Given the description of an element on the screen output the (x, y) to click on. 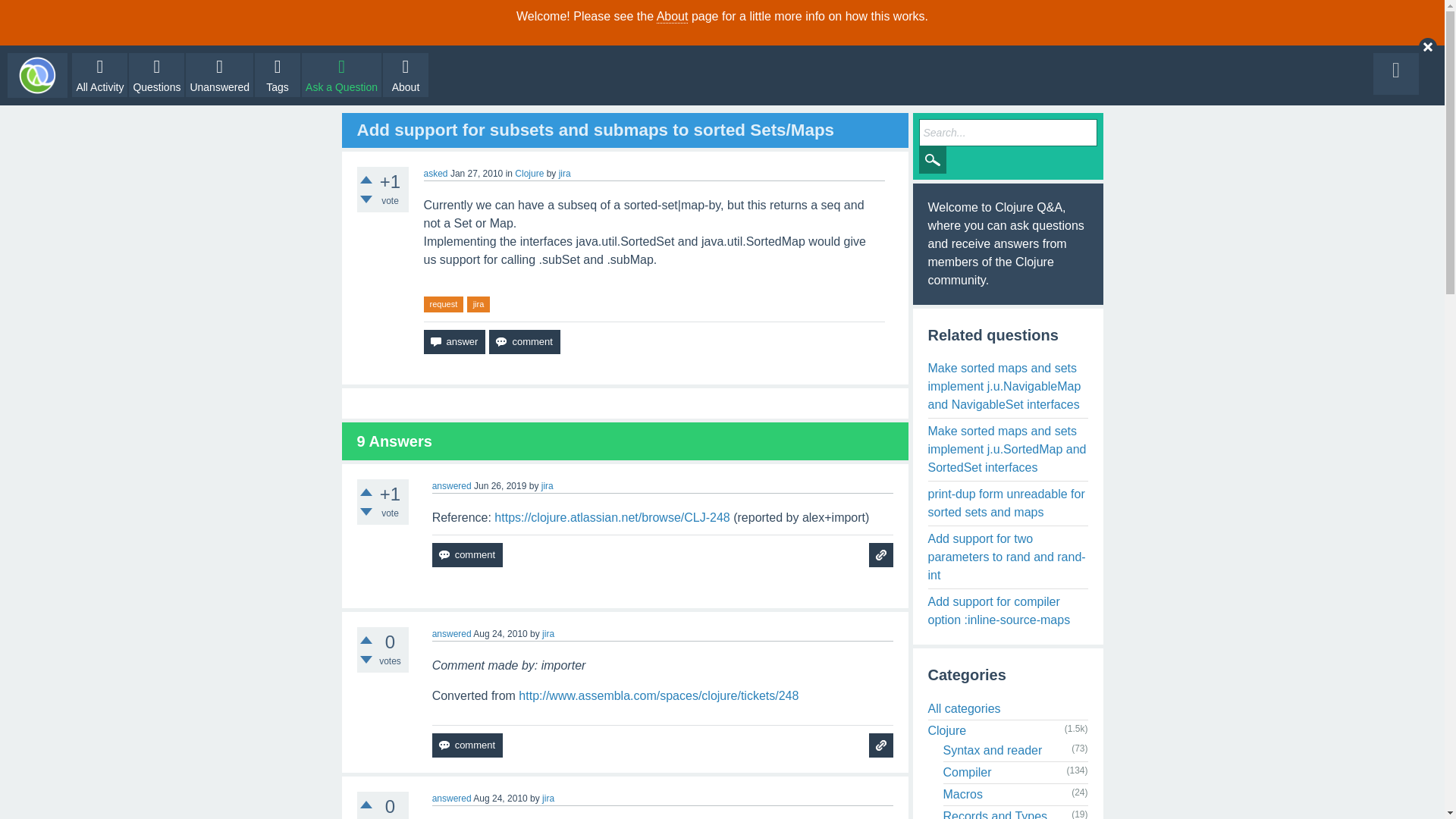
ask related question (881, 745)
Click to vote up (365, 639)
answered (451, 633)
jira (547, 485)
Click to vote up (365, 492)
Questions (156, 75)
About (672, 16)
Tags (276, 75)
asked (434, 173)
Unanswered (219, 75)
